Given the description of an element on the screen output the (x, y) to click on. 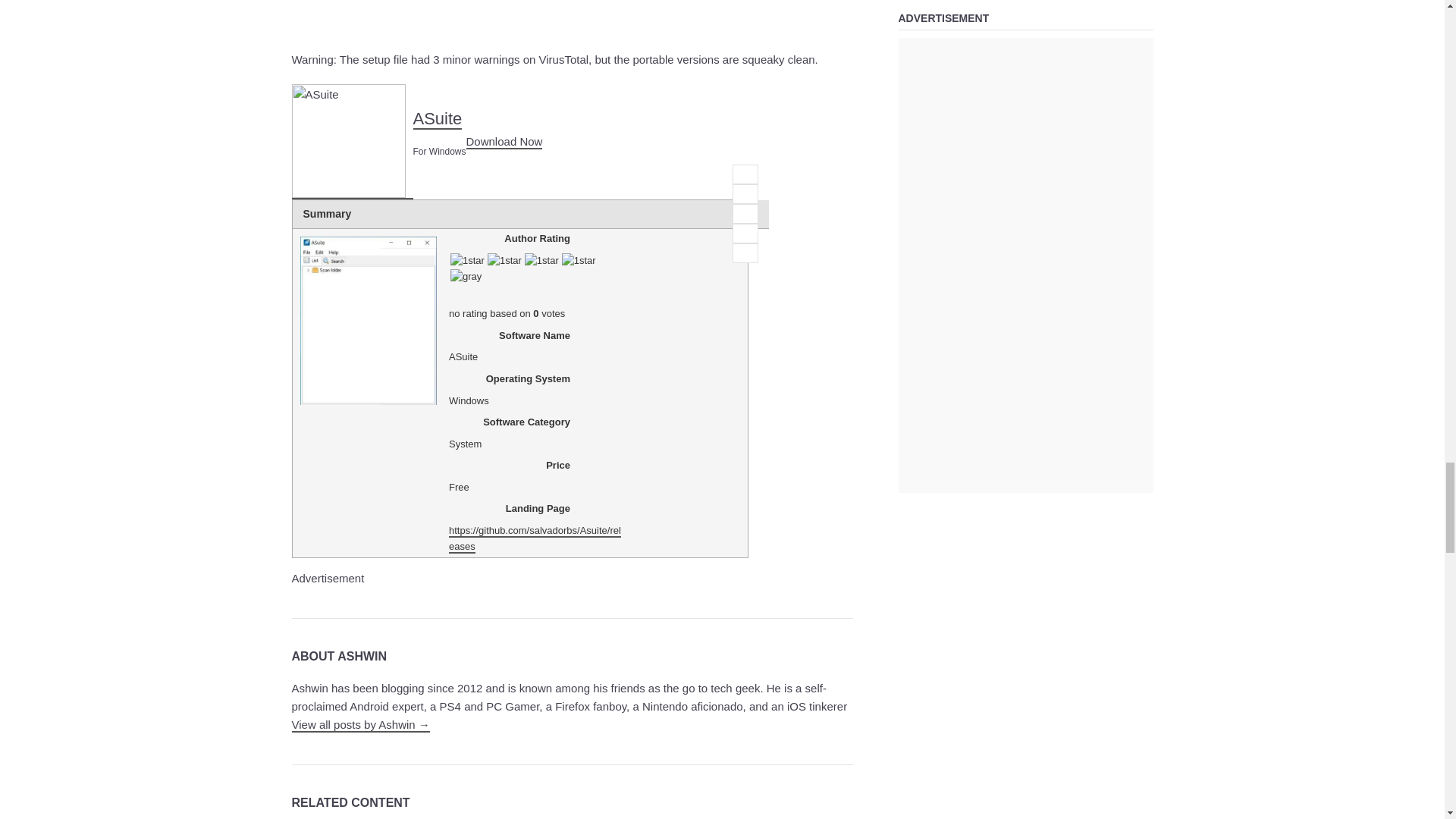
3 (745, 213)
4 (745, 233)
ASuite (351, 141)
ASuite (504, 142)
ASuite (347, 141)
1 (745, 174)
2 (745, 193)
ASuite (436, 118)
5 (745, 252)
